Given the description of an element on the screen output the (x, y) to click on. 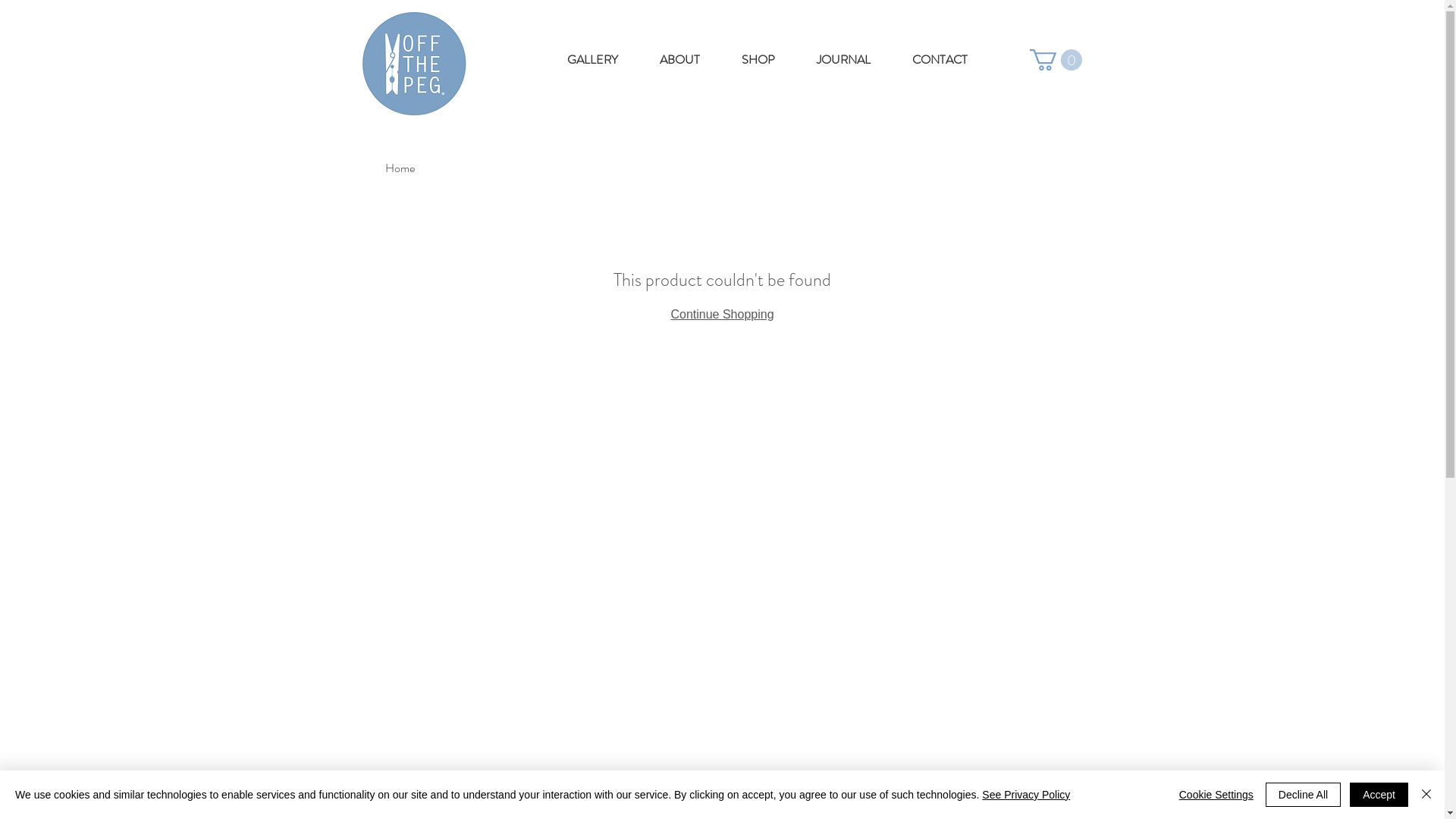
ABOUT Element type: text (679, 59)
Accept Element type: text (1378, 794)
GALLERY Element type: text (592, 59)
Home Element type: text (399, 167)
Decline All Element type: text (1302, 794)
Continue Shopping Element type: text (721, 313)
See Privacy Policy Element type: text (1026, 794)
CONTACT Element type: text (939, 59)
SHOP Element type: text (757, 59)
0 Element type: text (1055, 59)
JOURNAL Element type: text (843, 59)
